Given the description of an element on the screen output the (x, y) to click on. 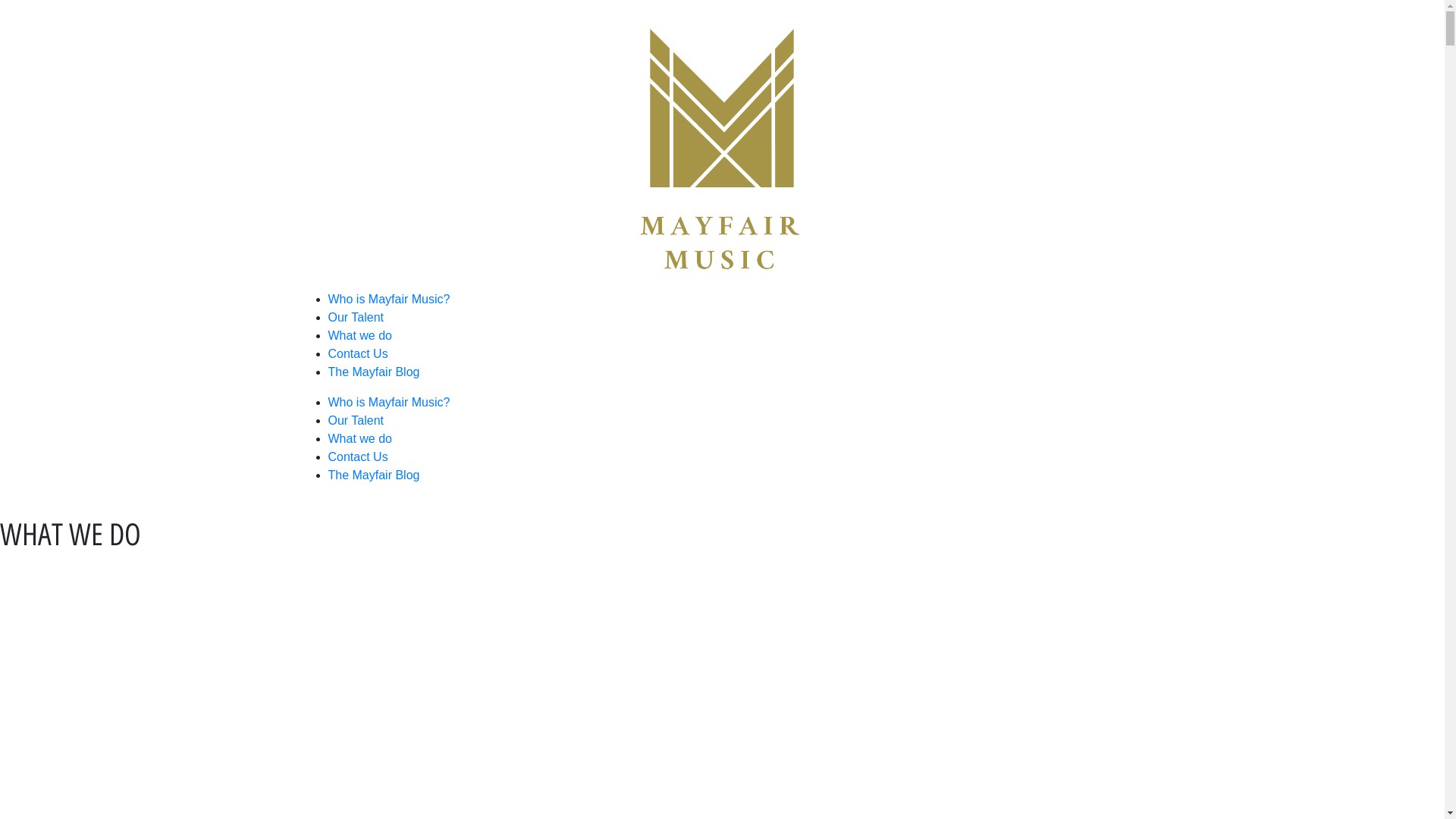
Contact Us Element type: text (357, 353)
Who is Mayfair Music? Element type: text (388, 401)
What we do Element type: text (359, 335)
Who is Mayfair Music? Element type: text (388, 298)
The Mayfair Blog Element type: text (373, 371)
Contact Us Element type: text (357, 456)
The Mayfair Blog Element type: text (373, 474)
What we do Element type: text (359, 438)
Our Talent Element type: text (355, 420)
Our Talent Element type: text (355, 316)
